Given the description of an element on the screen output the (x, y) to click on. 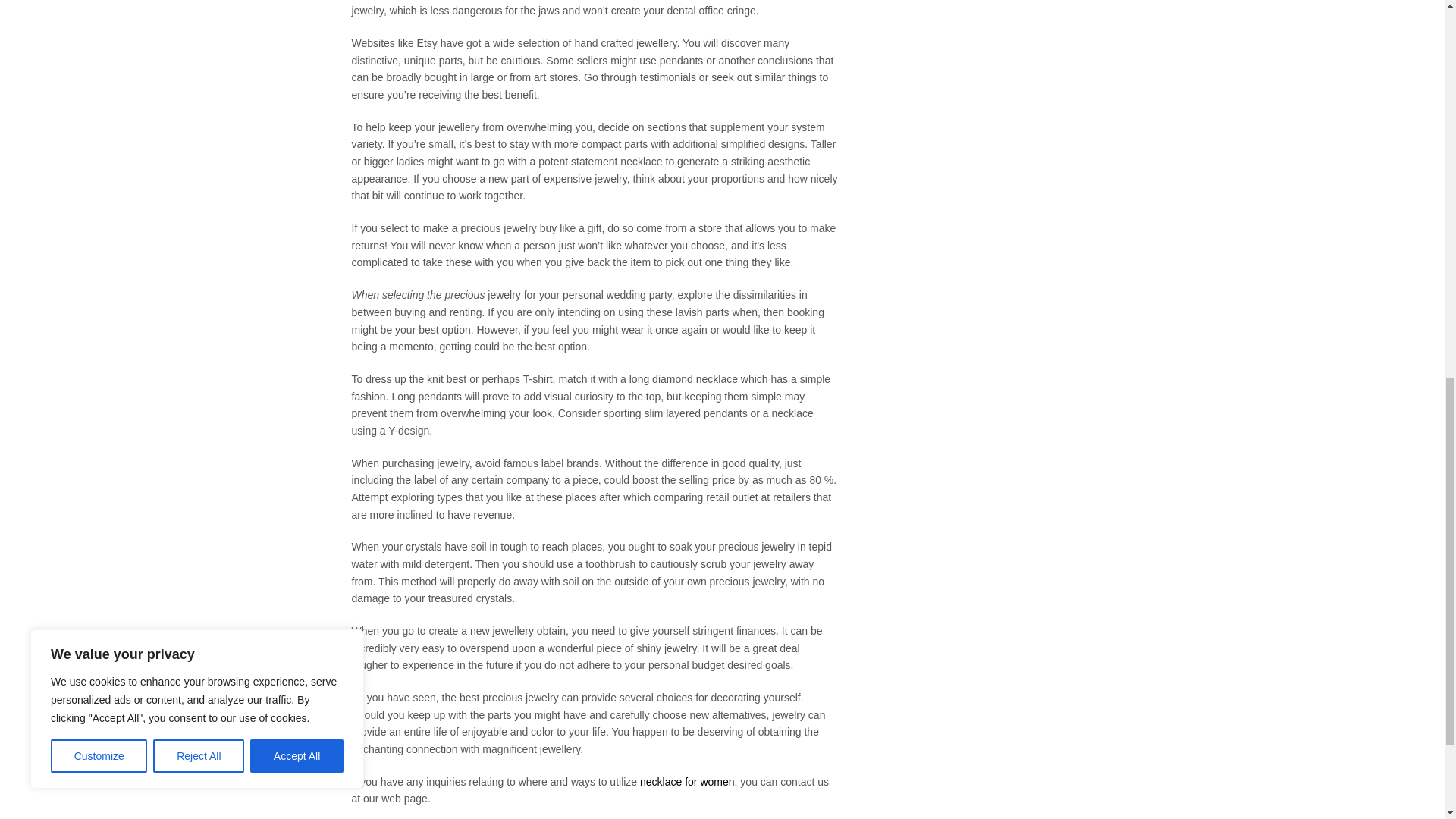
necklace for women (687, 781)
